Given the description of an element on the screen output the (x, y) to click on. 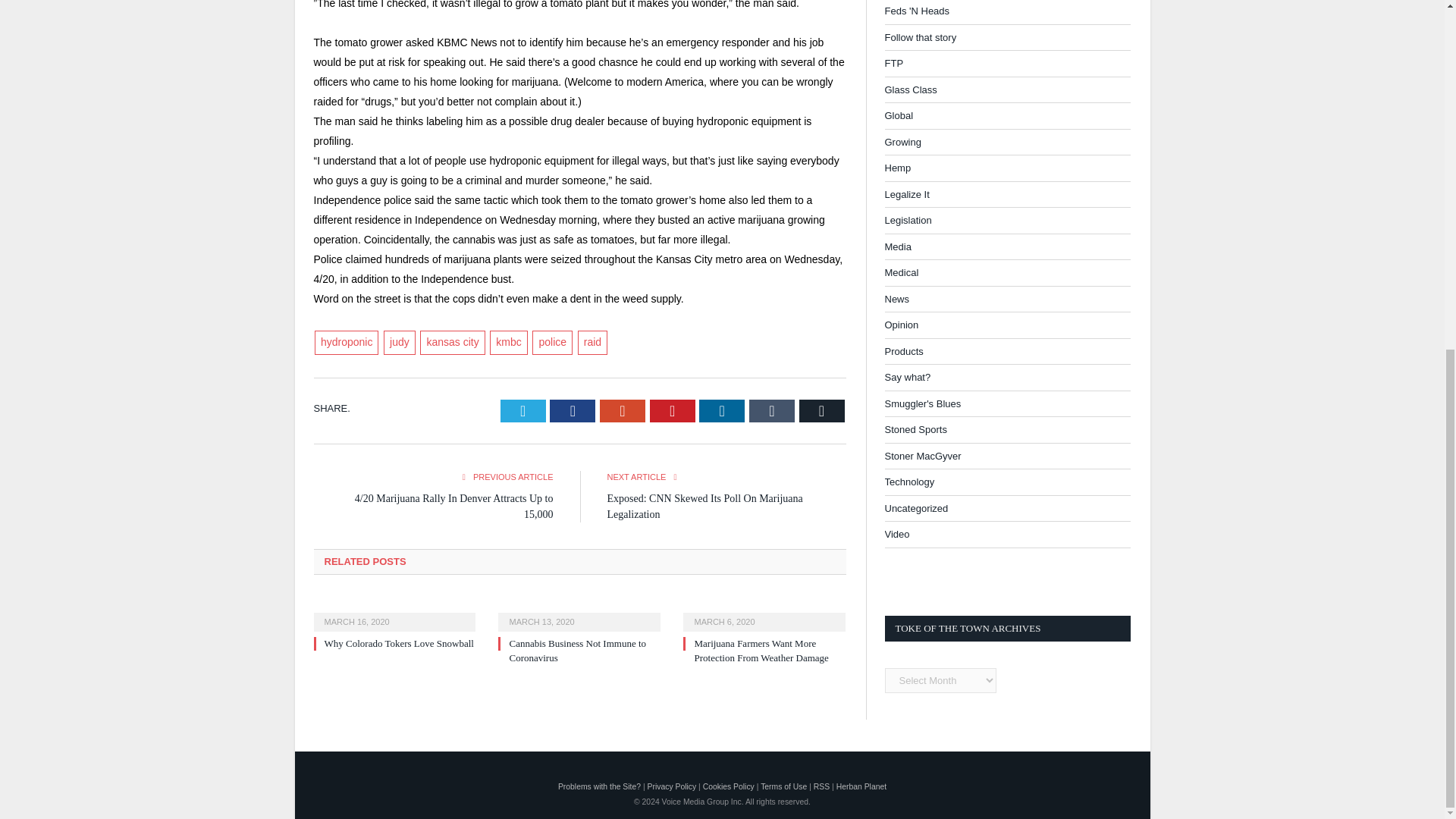
raid (592, 342)
Facebook (572, 410)
Share on Tumblr (771, 410)
Marijuana Farmers Want More Protection From Weather Damage (761, 650)
LinkedIn (721, 410)
Twitter (523, 410)
Share on Facebook (572, 410)
Tweet It (523, 410)
Exposed: CNN Skewed Its Poll On Marijuana Legalization (704, 506)
kansas city (452, 342)
